Given the description of an element on the screen output the (x, y) to click on. 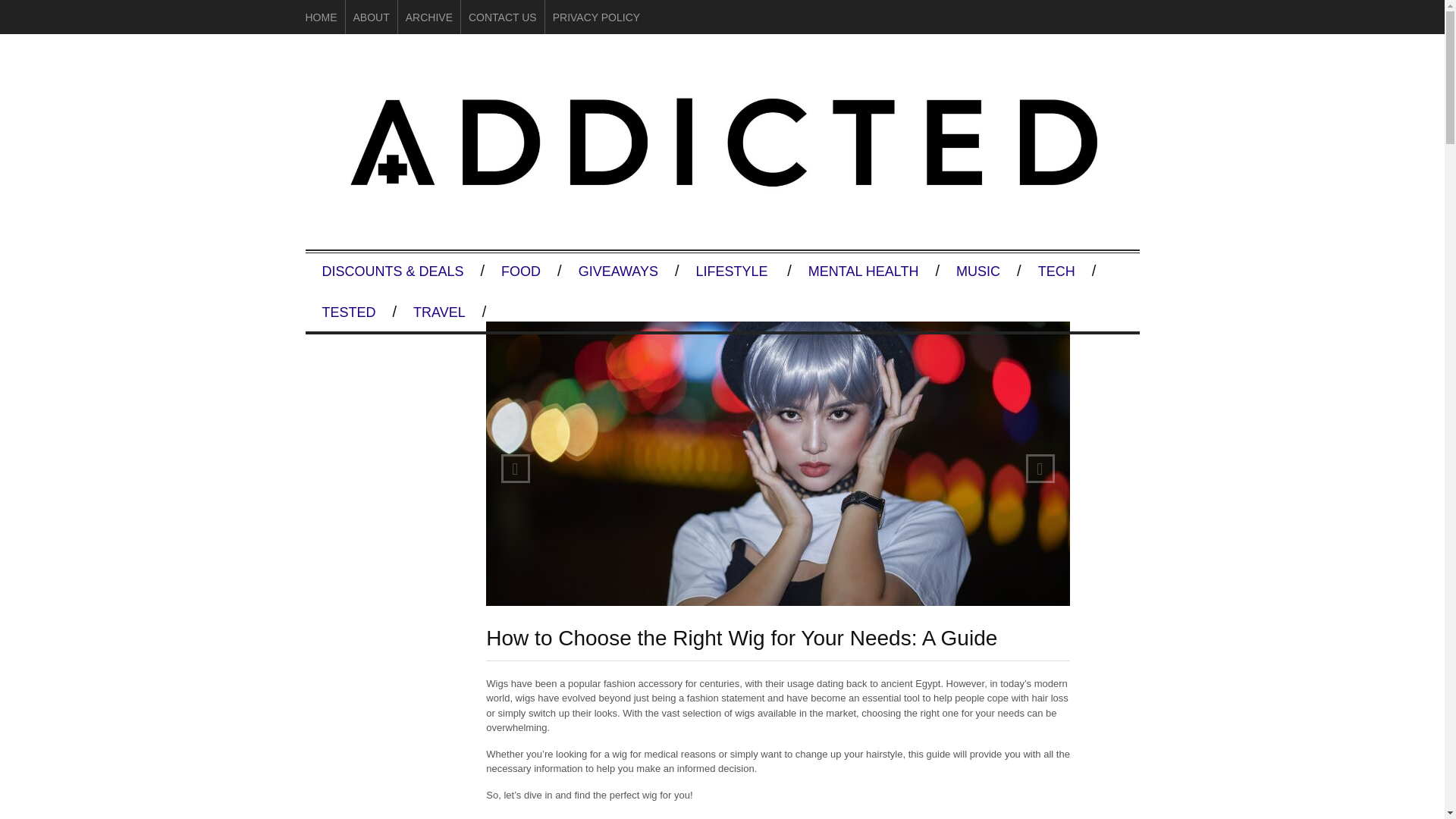
ABOUT (371, 17)
ADDICTED (721, 204)
TESTED (348, 312)
ARCHIVE (429, 17)
FOOD (520, 271)
MENTAL HEALTH (863, 271)
LIFESTYLE (731, 271)
HOME (320, 17)
PRIVACY POLICY (596, 17)
CONTACT US (502, 17)
GIVEAWAYS (617, 271)
